Given the description of an element on the screen output the (x, y) to click on. 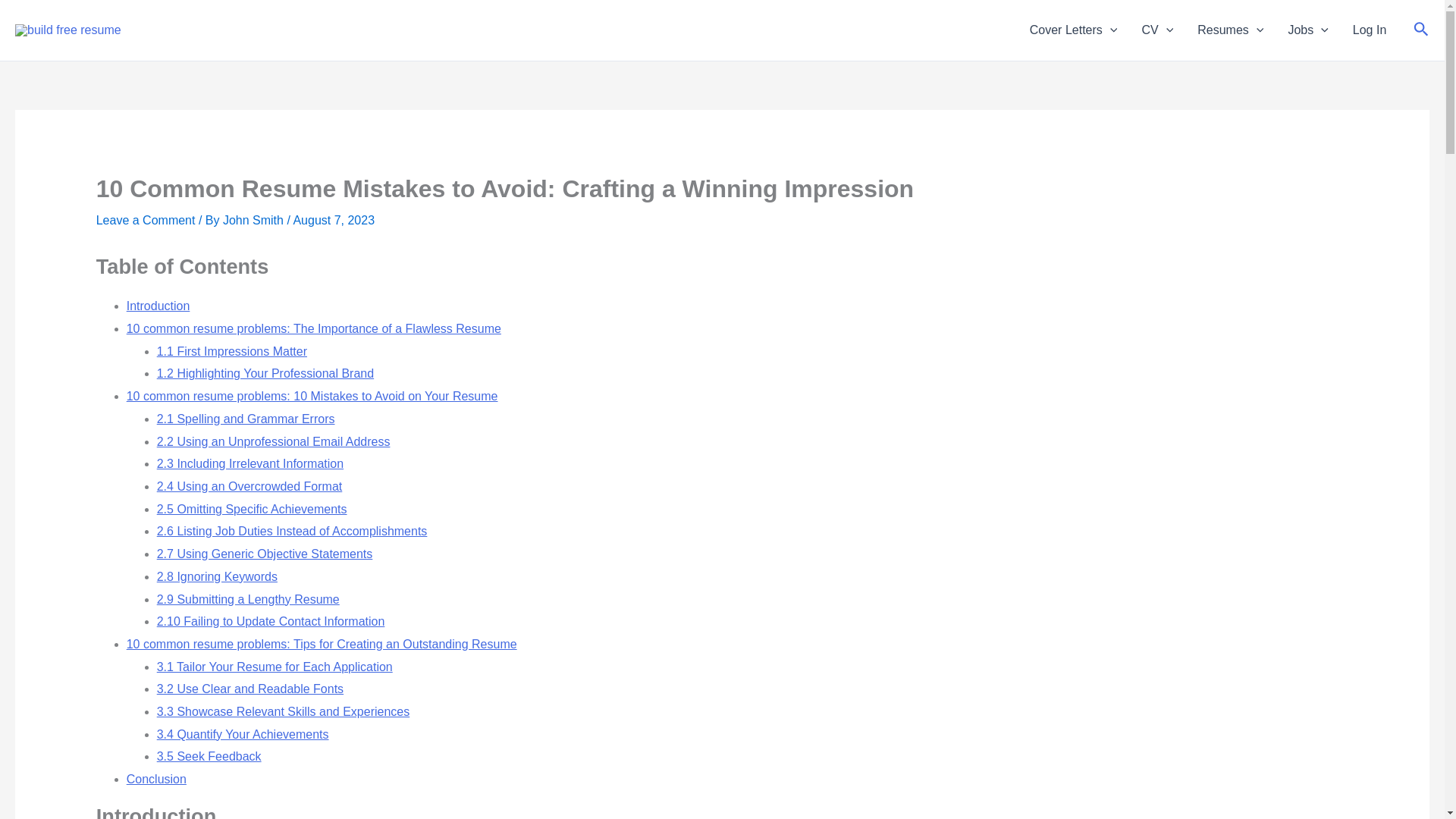
Resumes (1230, 30)
Jobs (1307, 30)
CV (1157, 30)
Cover Letters (1073, 30)
View all posts by John Smith (252, 219)
